Given the description of an element on the screen output the (x, y) to click on. 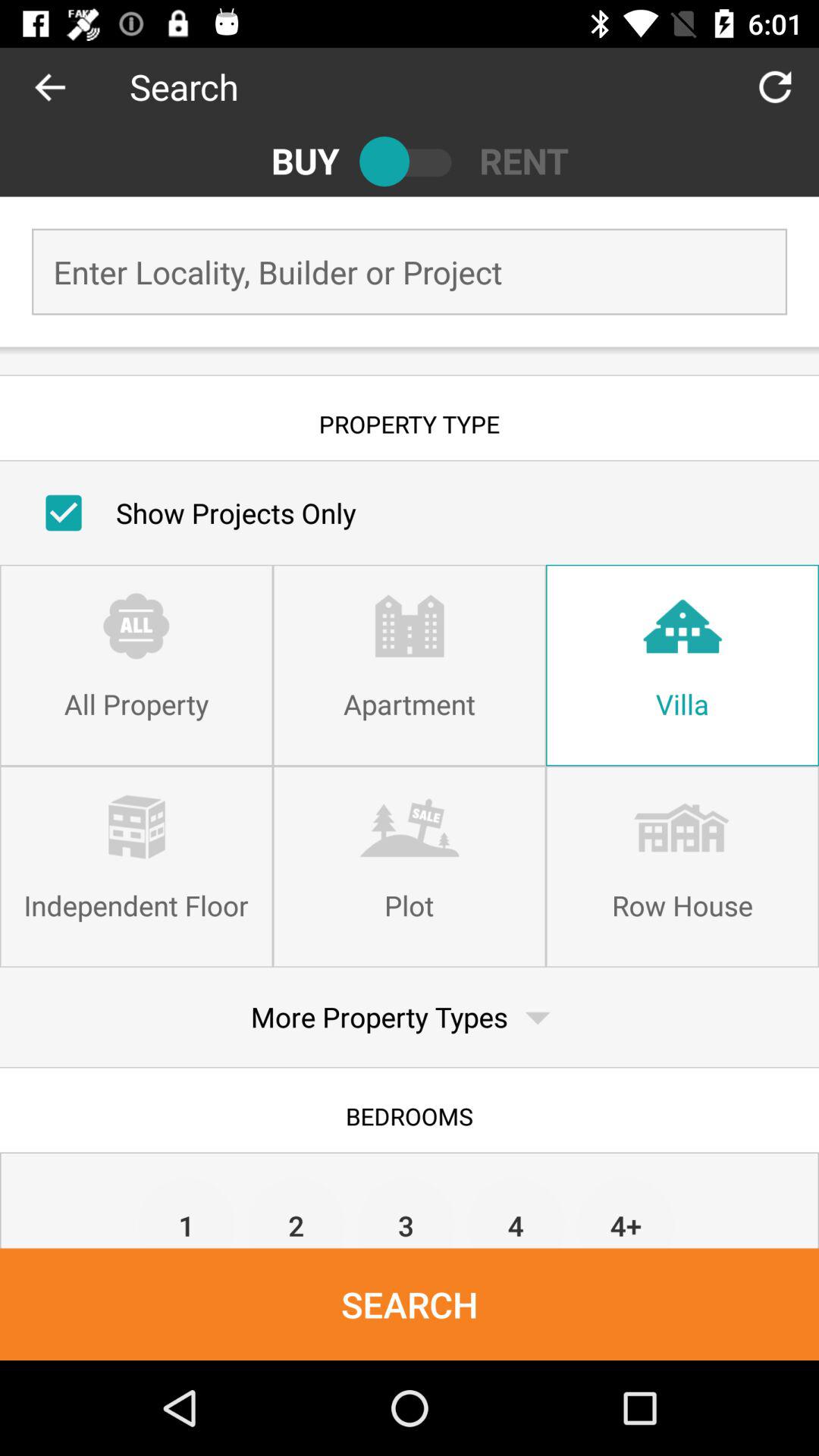
toggle search option (409, 161)
